Given the description of an element on the screen output the (x, y) to click on. 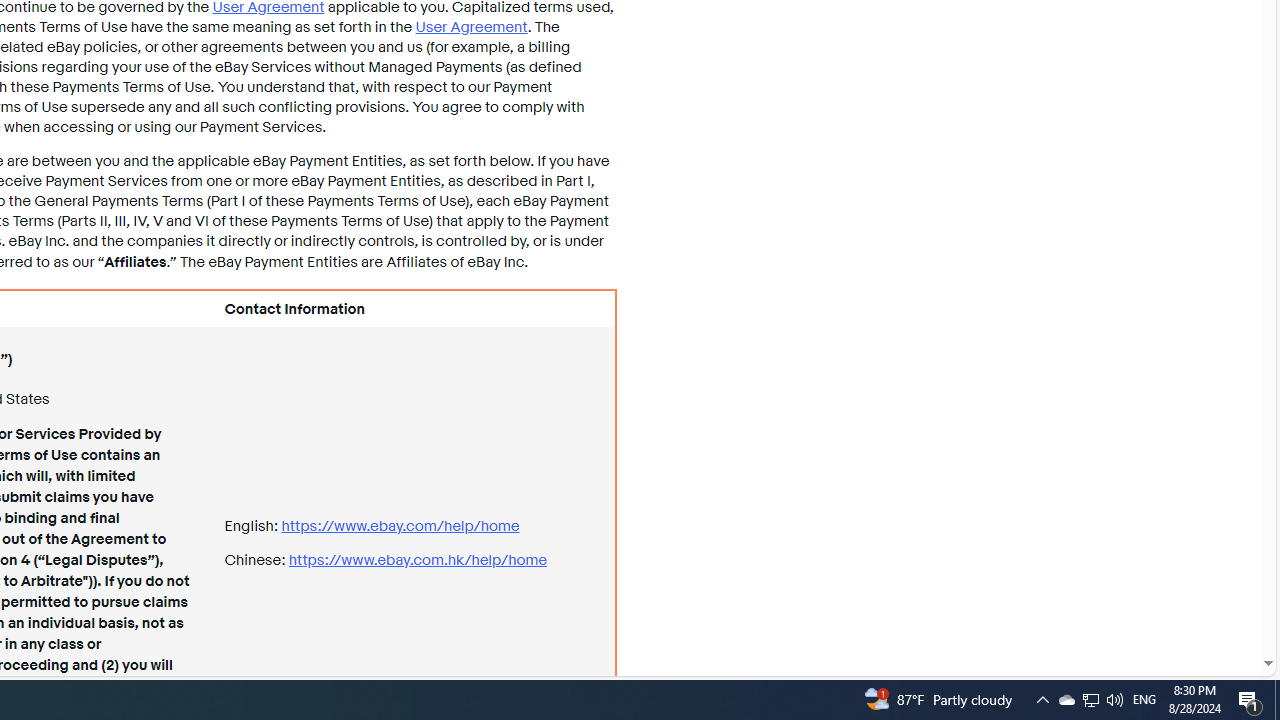
User Agreement (470, 26)
https://www.ebay.com.hk/ help/home (417, 560)
https://www.ebay.com/ help/home (400, 525)
